Given the description of an element on the screen output the (x, y) to click on. 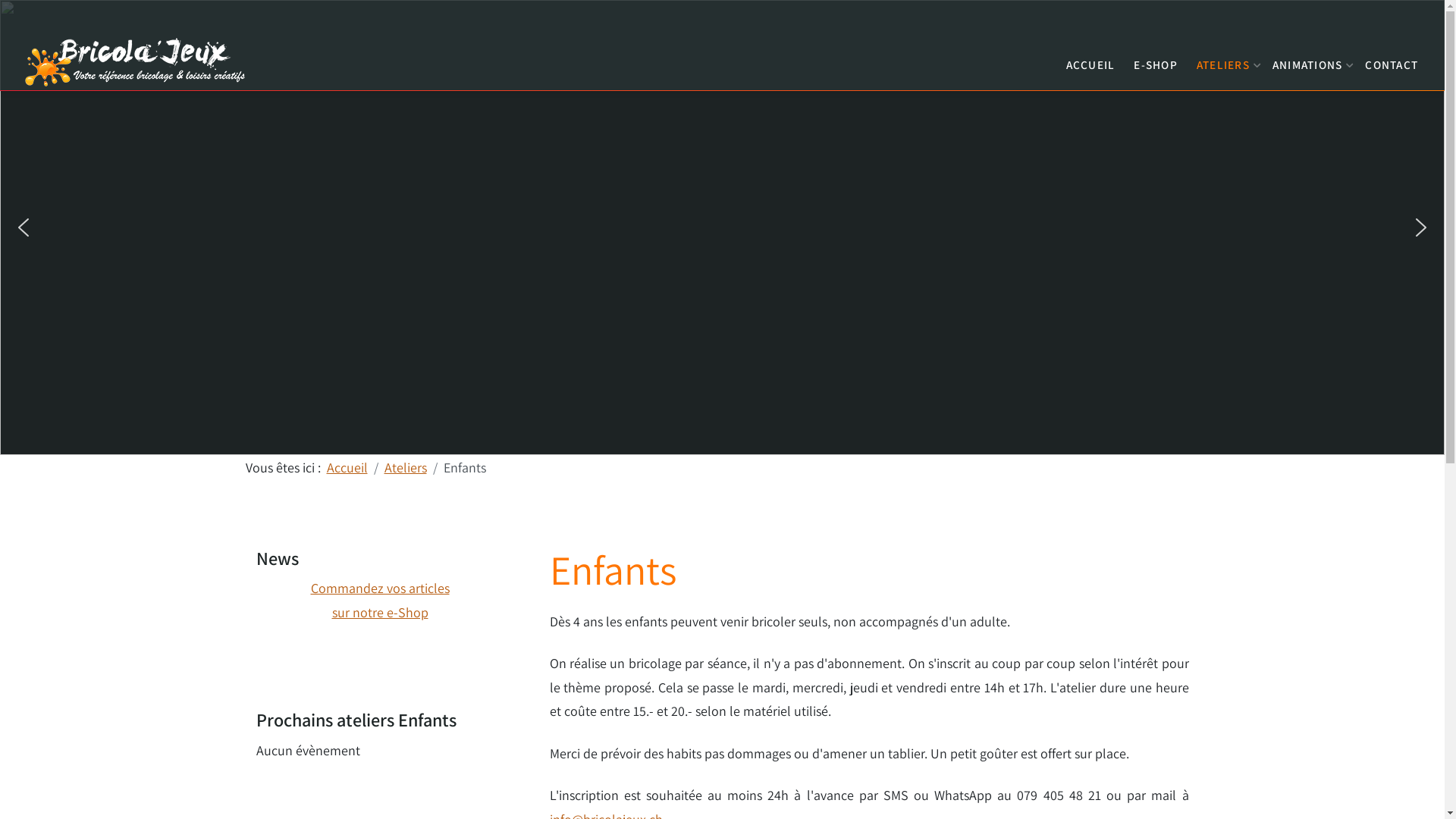
Commandez vos articles
sur notre e-Shop Element type: text (379, 600)
ATELIERS Element type: text (1224, 60)
CONTACT Element type: text (1391, 60)
Ateliers Element type: text (404, 467)
Bricolajeux Element type: hover (136, 60)
E-SHOP Element type: text (1155, 60)
ACCUEIL Element type: text (1089, 60)
Accueil Element type: text (346, 467)
